Given the description of an element on the screen output the (x, y) to click on. 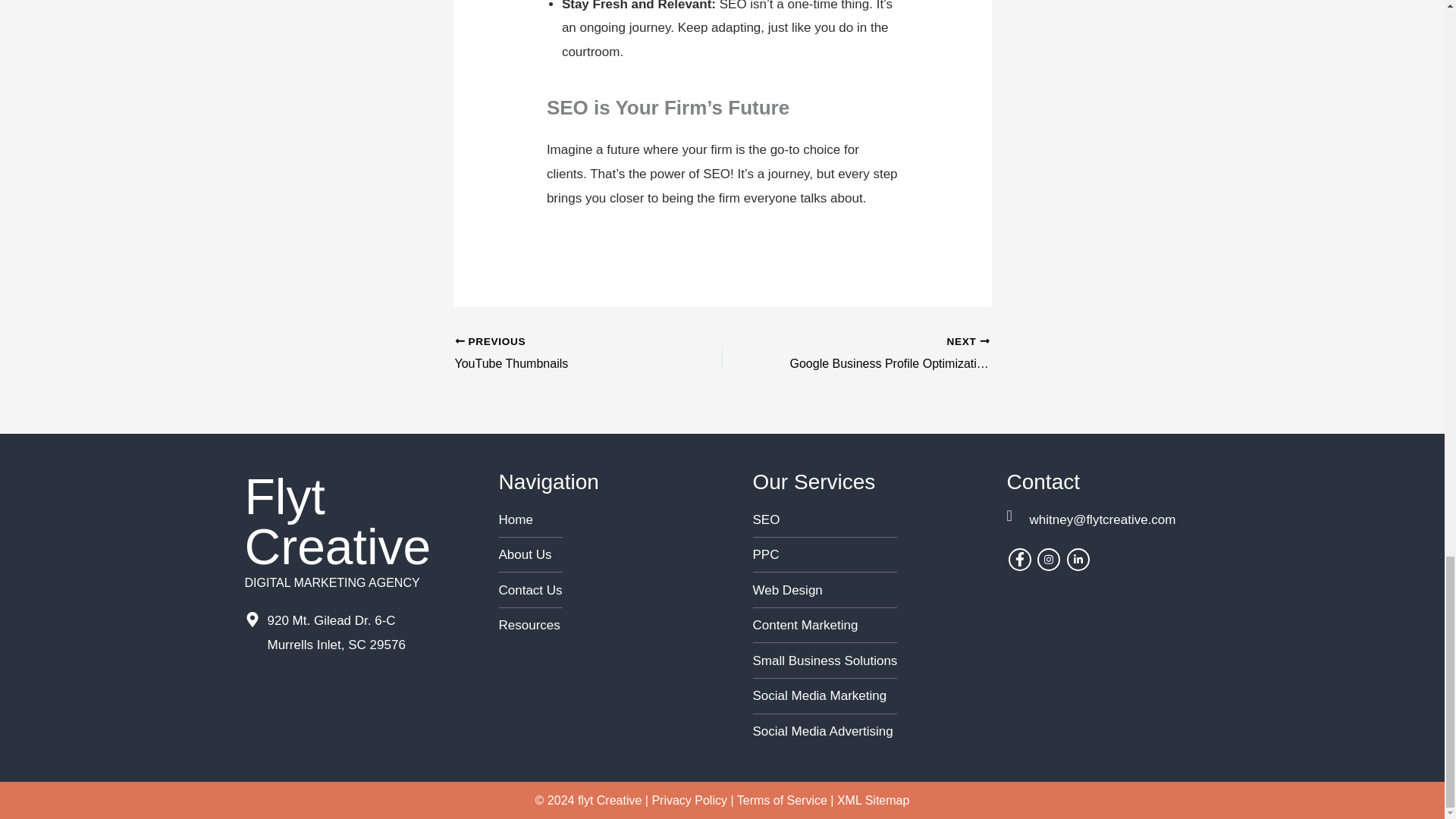
Contact Us (561, 353)
YouTube Thumbnails (530, 590)
Resources (561, 353)
About Us (530, 625)
